Given the description of an element on the screen output the (x, y) to click on. 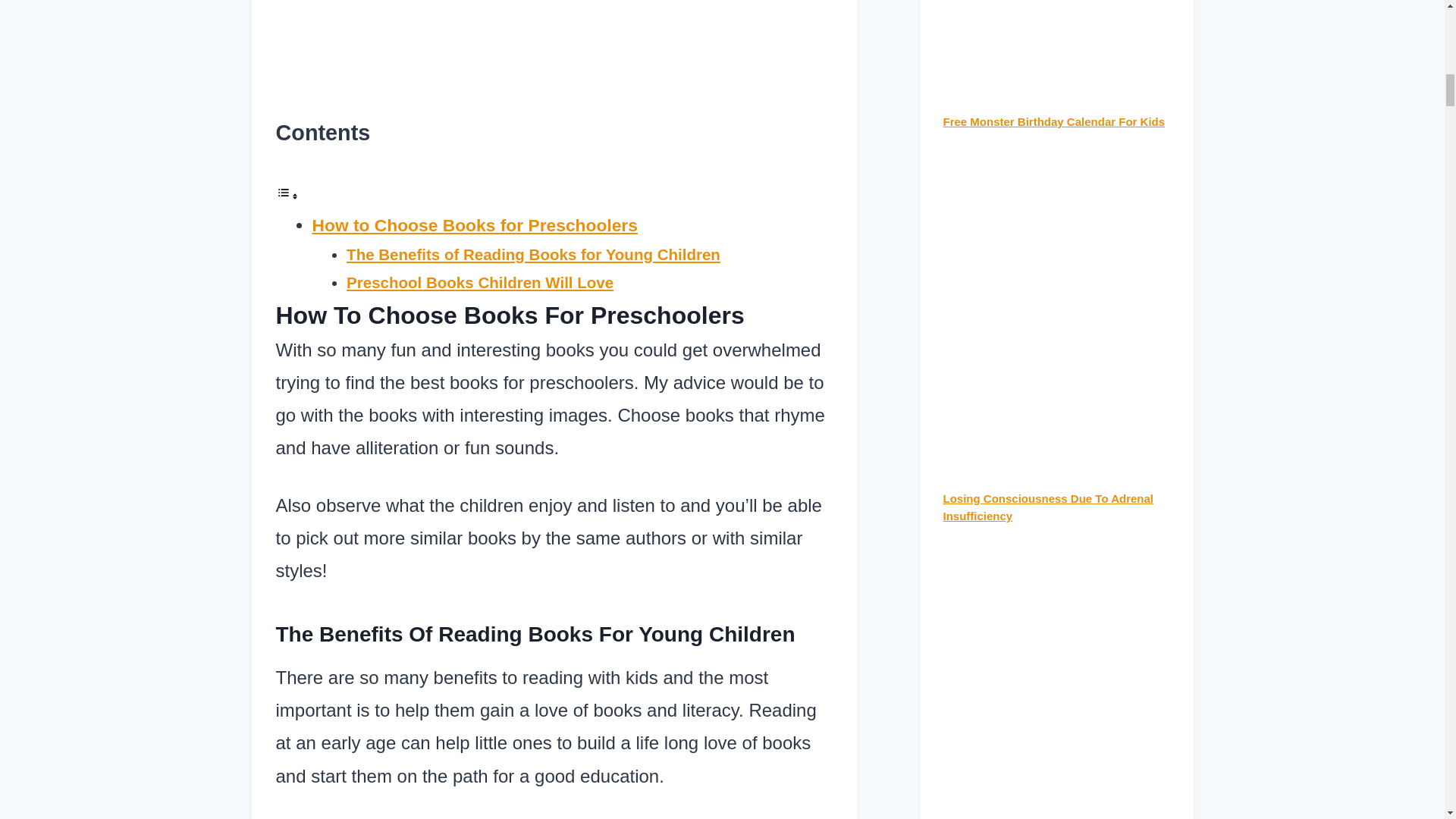
The Benefits of Reading Books for Young Children (533, 253)
Preschool Books Children Will Love (479, 282)
How to Choose Books for Preschoolers (475, 225)
How to Choose Books for Preschoolers (475, 225)
The Benefits of Reading Books for Young Children (533, 253)
Preschool Books Children Will Love (479, 282)
